Given the description of an element on the screen output the (x, y) to click on. 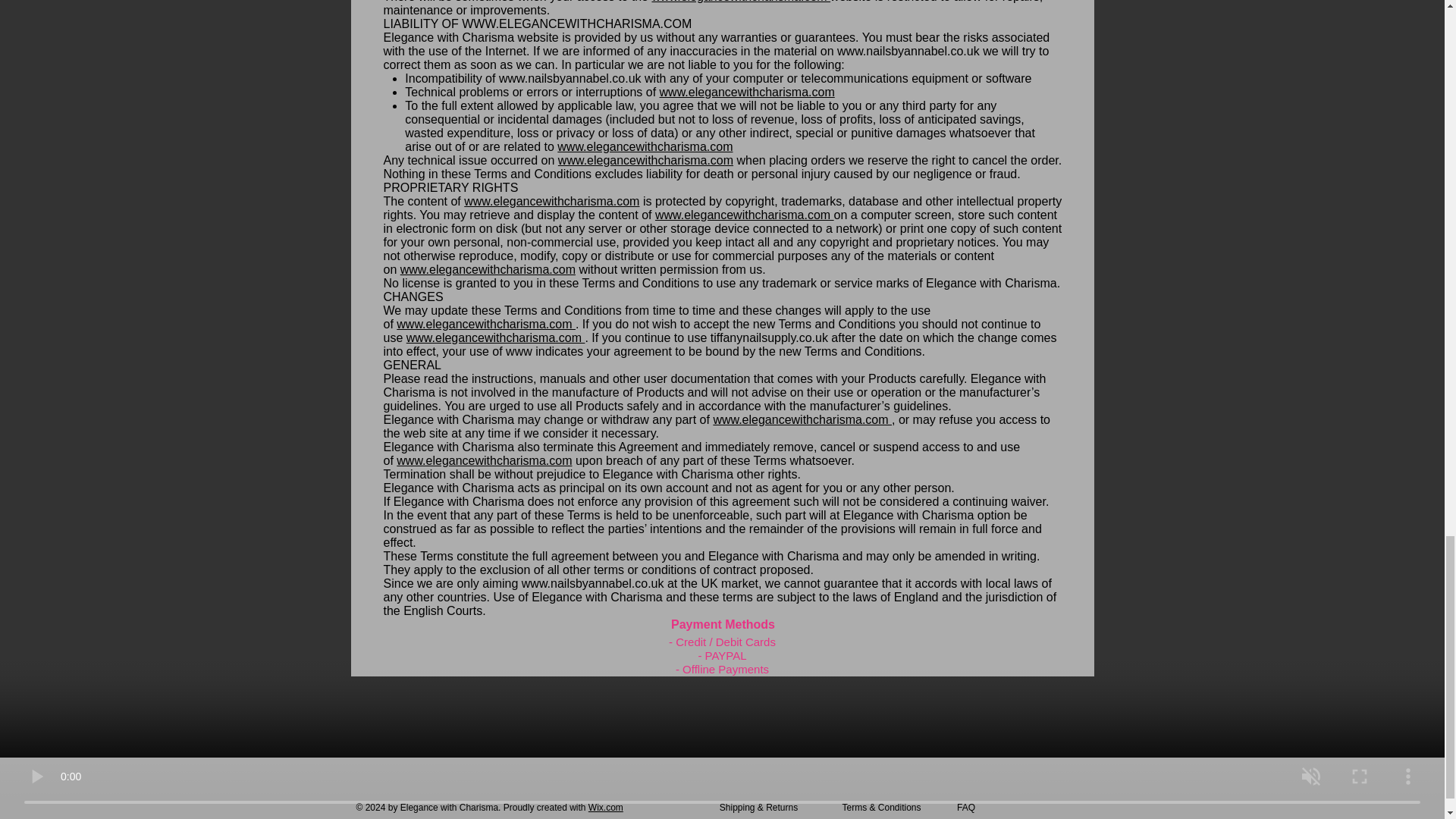
www.elegancewithcharisma.com  (744, 214)
www.elegancewithcharisma.com  (485, 323)
www.elegancewithcharisma.com (487, 269)
www.elegancewithcharisma.com (746, 91)
www.elegancewithcharisma.com (645, 160)
www.nailsbyannabel.co.uk (908, 51)
www.elegancewithcharisma.com (551, 201)
www.elegancewithcharisma.com  (802, 419)
WWW.ELEGANCEWITHCHARISMA.COM (576, 23)
www.elegancewithcharisma.com  (495, 337)
